Given the description of an element on the screen output the (x, y) to click on. 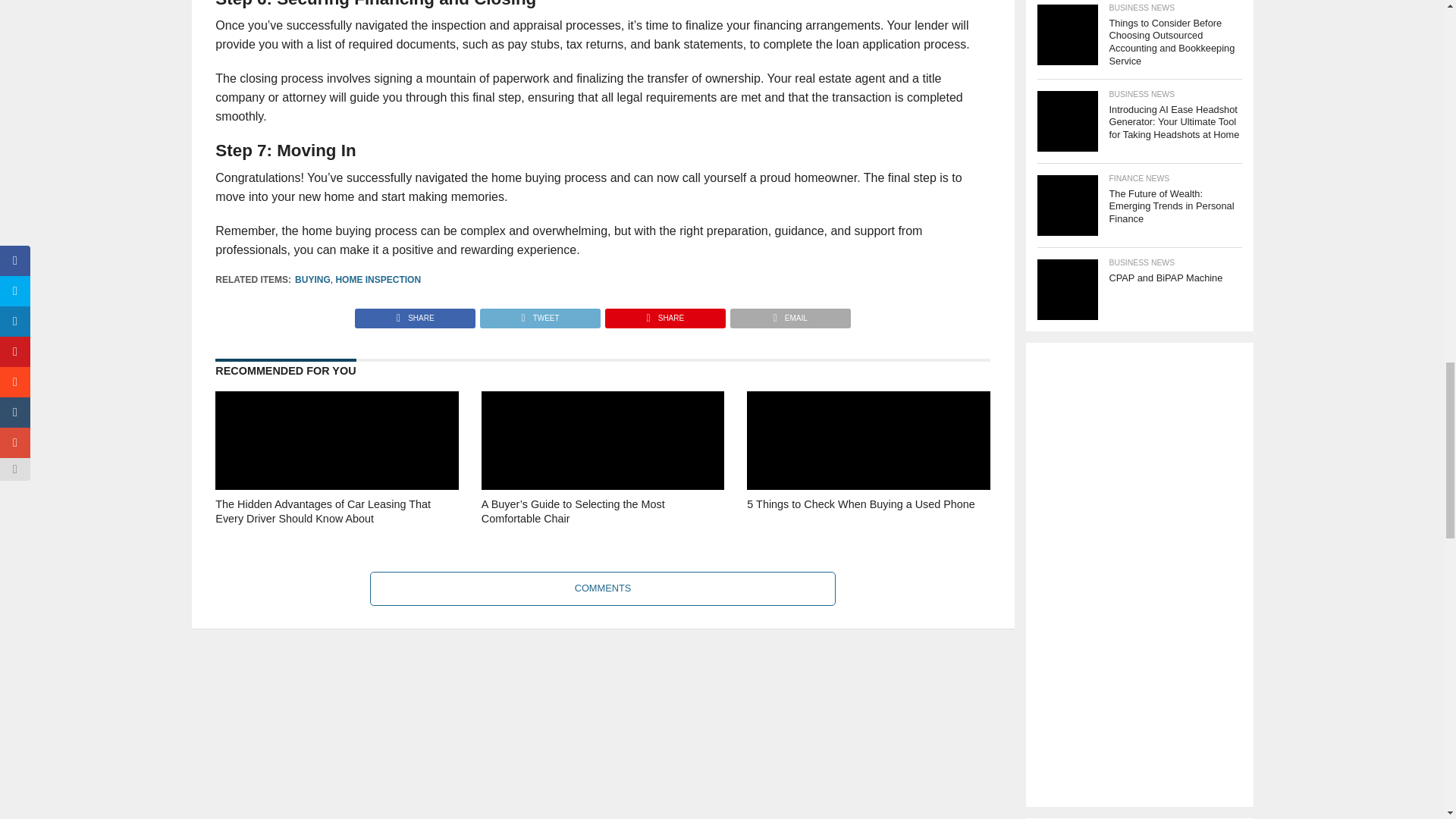
Share on Facebook (415, 314)
Pin This Post (664, 314)
5 Things to Check When Buying a Used Phone (868, 532)
Tweet This Post (539, 314)
